Given the description of an element on the screen output the (x, y) to click on. 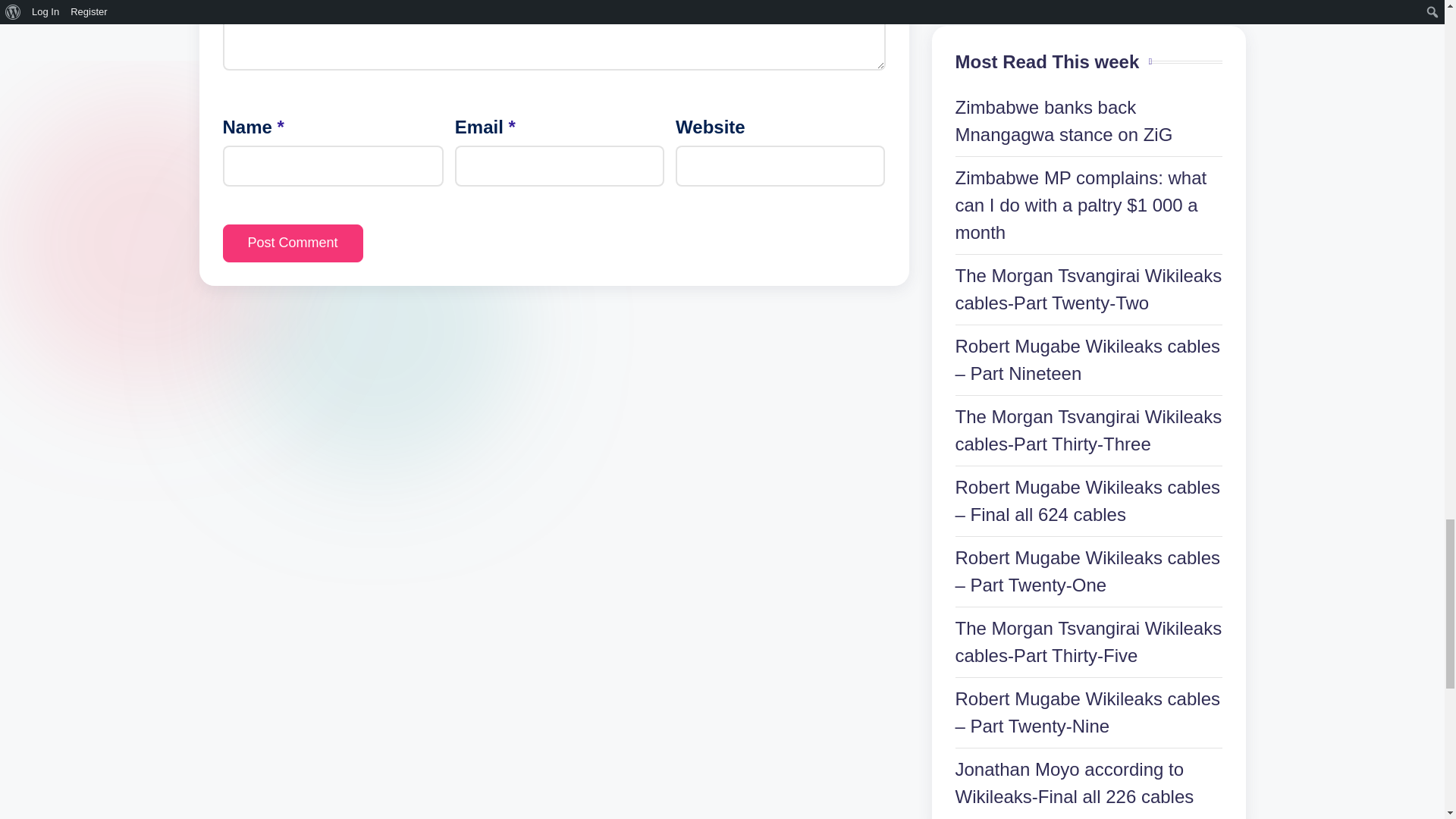
The Morgan Tsvangirai Wikileaks cables-Part Thirty-Three (1089, 430)
Zimbabwe banks back Mnangagwa stance on ZiG (1064, 120)
The Morgan Tsvangirai Wikileaks cables-Part Twenty-Two (1089, 288)
Post Comment (292, 243)
